Given the description of an element on the screen output the (x, y) to click on. 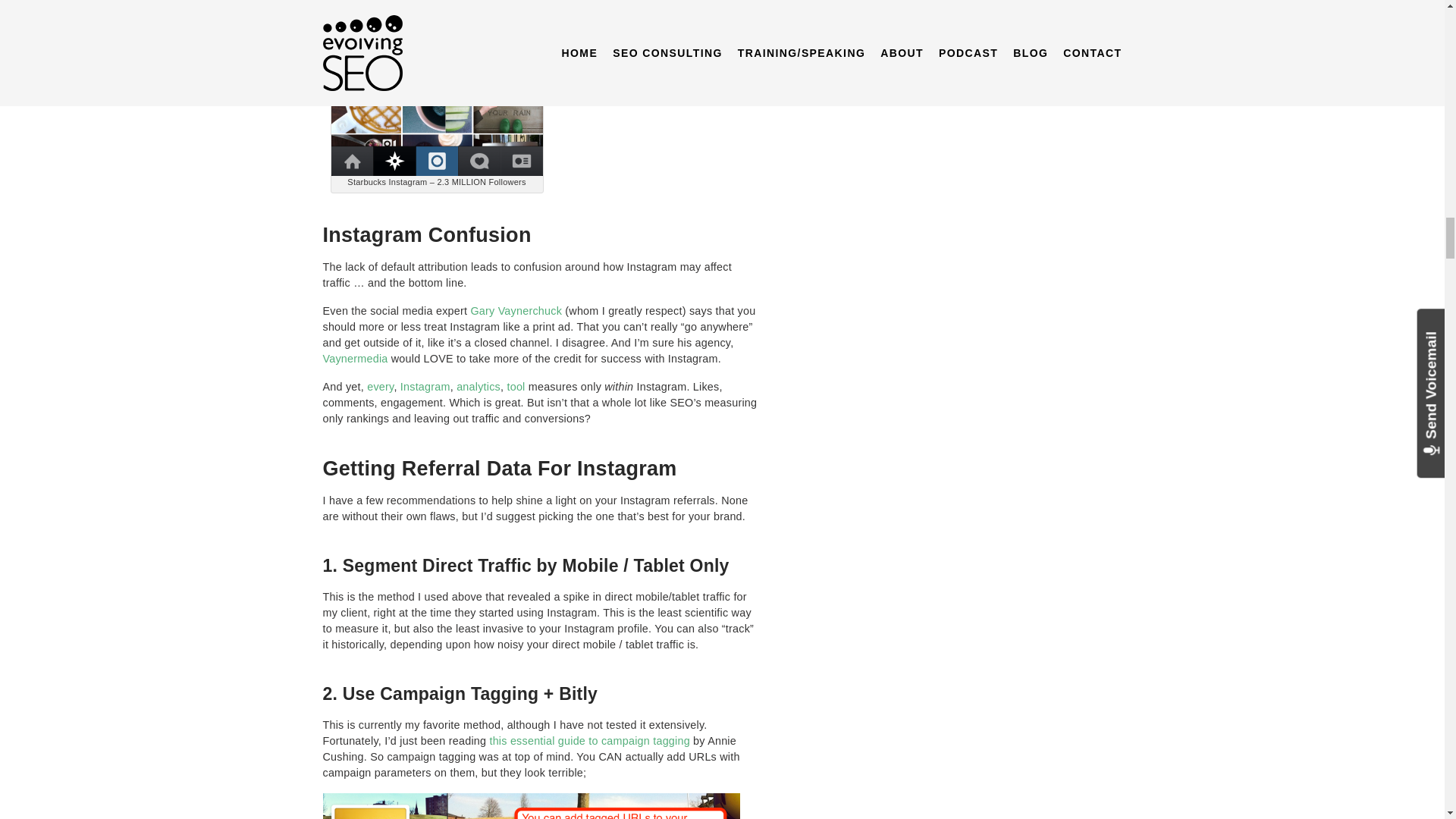
Curalate (515, 386)
Iconosquare (424, 386)
Nitrogram (478, 386)
Simply Measured (379, 386)
